Given the description of an element on the screen output the (x, y) to click on. 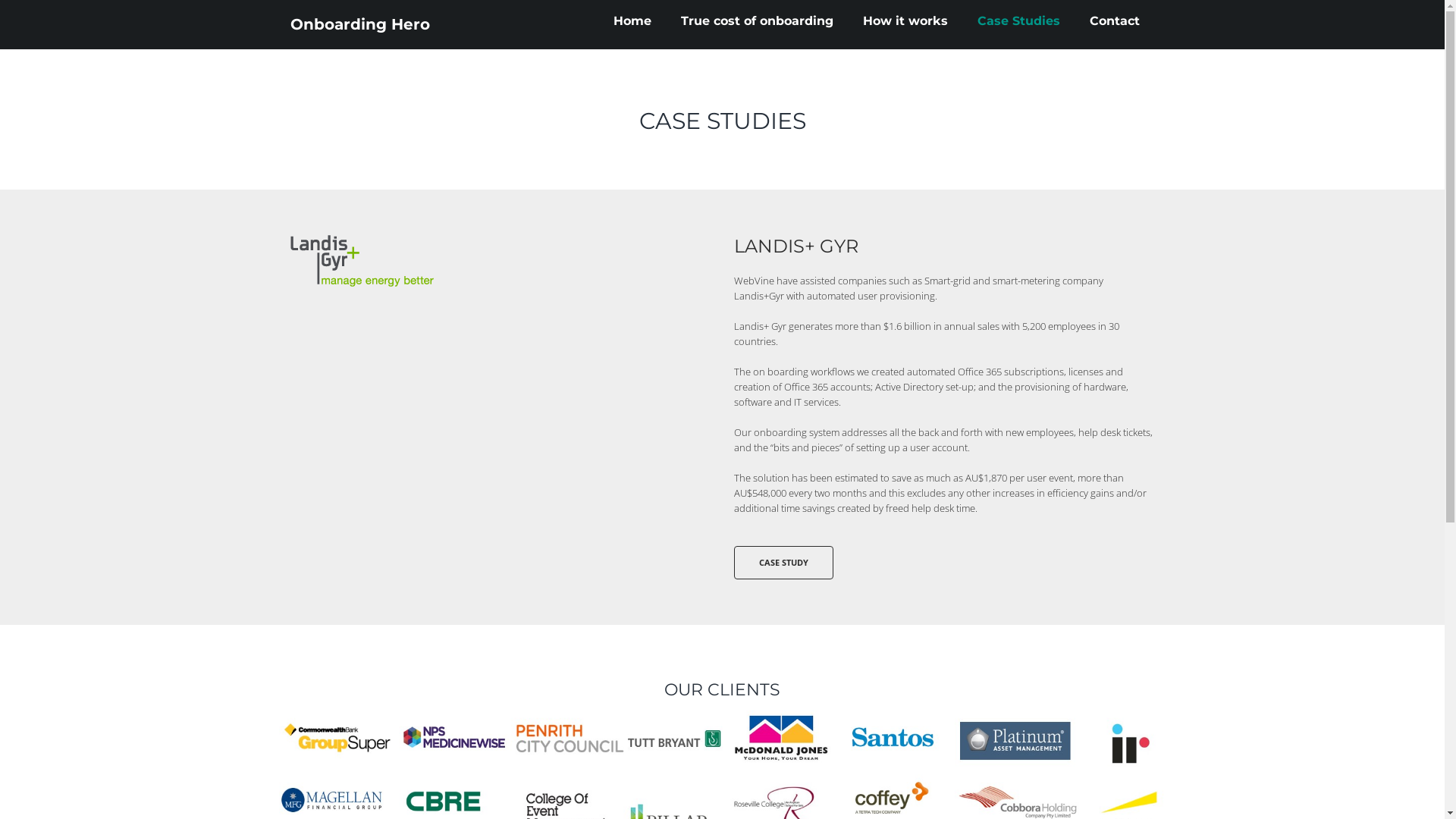
CASE STUDY Element type: text (783, 562)
True cost of onboarding Element type: text (756, 21)
Home Element type: text (631, 21)
How it works Element type: text (905, 21)
Contact Element type: text (1113, 21)
Onboarding Hero Element type: text (359, 24)
SKIP TO PRIMARY CONTENT Element type: text (658, 18)
SKIP TO SECONDARY CONTENT Element type: text (665, 18)
Case Studies Element type: text (1017, 21)
